Given the description of an element on the screen output the (x, y) to click on. 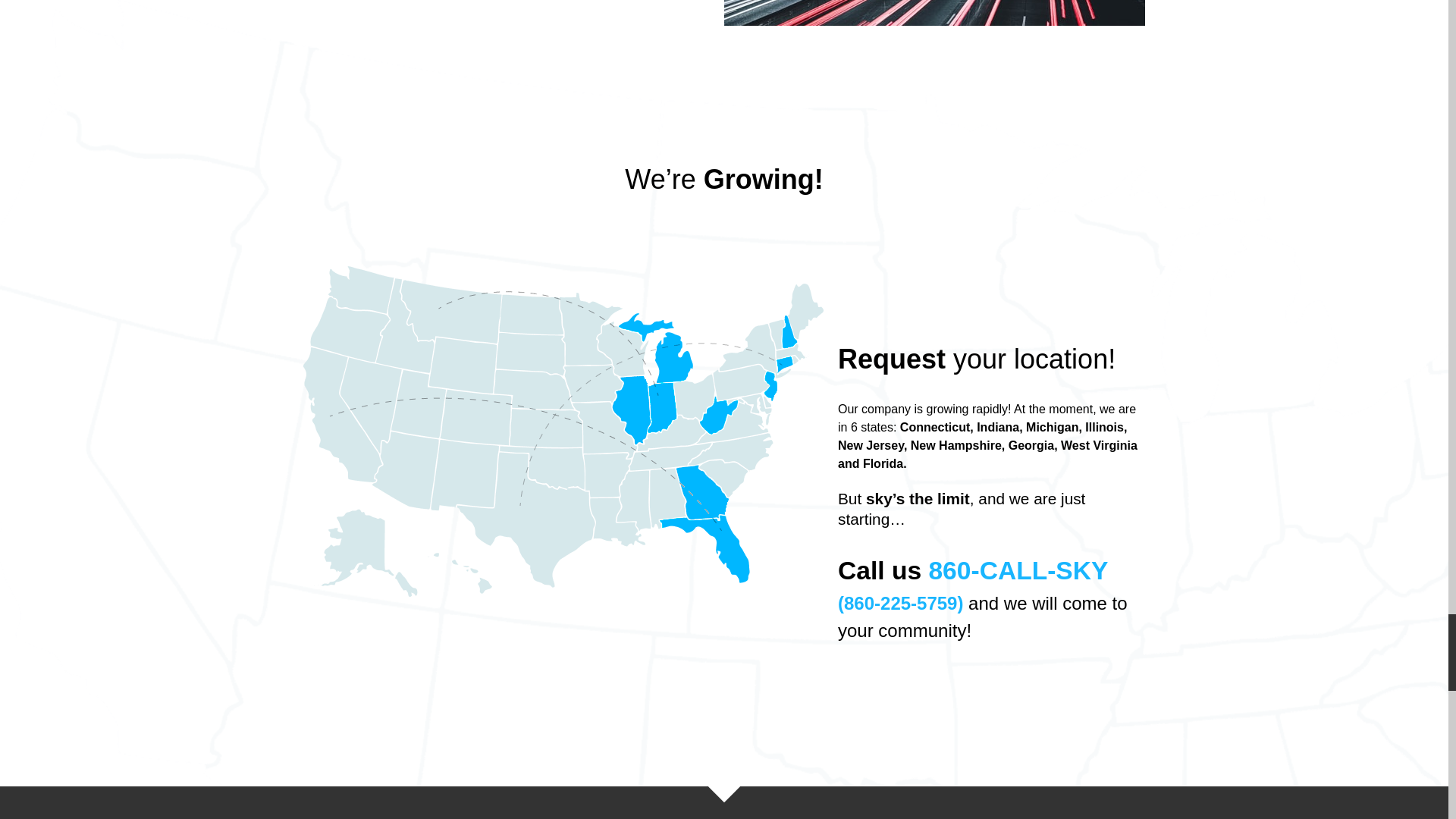
860-CALL-SKY (1018, 570)
